Given the description of an element on the screen output the (x, y) to click on. 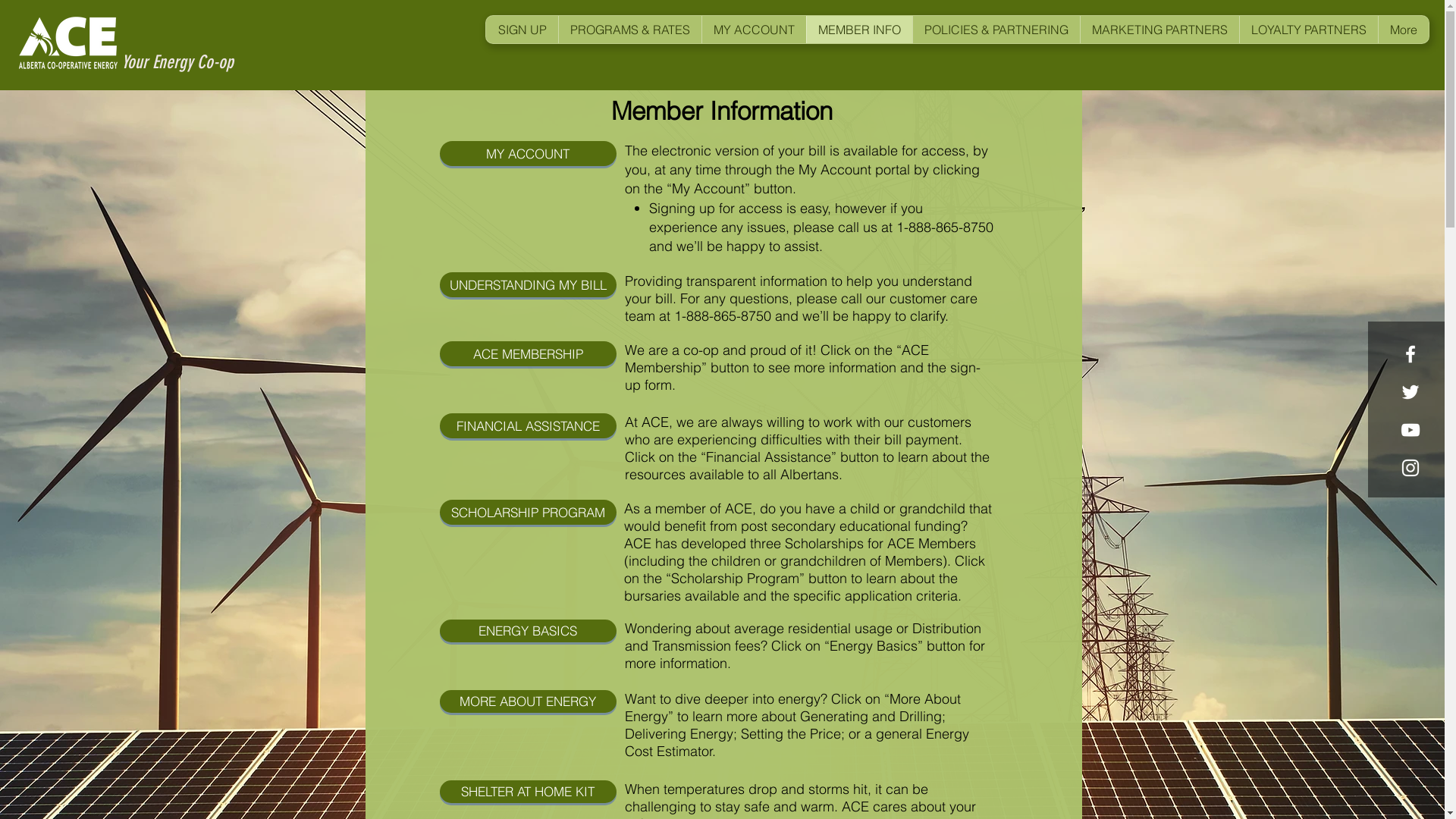
ACE MEMBERSHIP Element type: text (527, 353)
PROGRAMS & RATES Element type: text (629, 29)
POLICIES & PARTNERING Element type: text (995, 29)
MARKETING PARTNERS Element type: text (1159, 29)
LOYALTY PARTNERS Element type: text (1308, 29)
SHELTER AT HOME KIT Element type: text (527, 791)
MEMBER INFO Element type: text (859, 29)
FINANCIAL ASSISTANCE Element type: text (527, 425)
Home Element type: hover (67, 39)
MORE ABOUT ENERGY Element type: text (527, 701)
MY ACCOUNT Element type: text (527, 153)
SIGN UP Element type: text (522, 29)
SCHOLARSHIP PROGRAM Element type: text (527, 511)
UNDERSTANDING MY BILL Element type: text (527, 284)
ENERGY BASICS Element type: text (527, 630)
MY ACCOUNT Element type: text (753, 29)
